Given the description of an element on the screen output the (x, y) to click on. 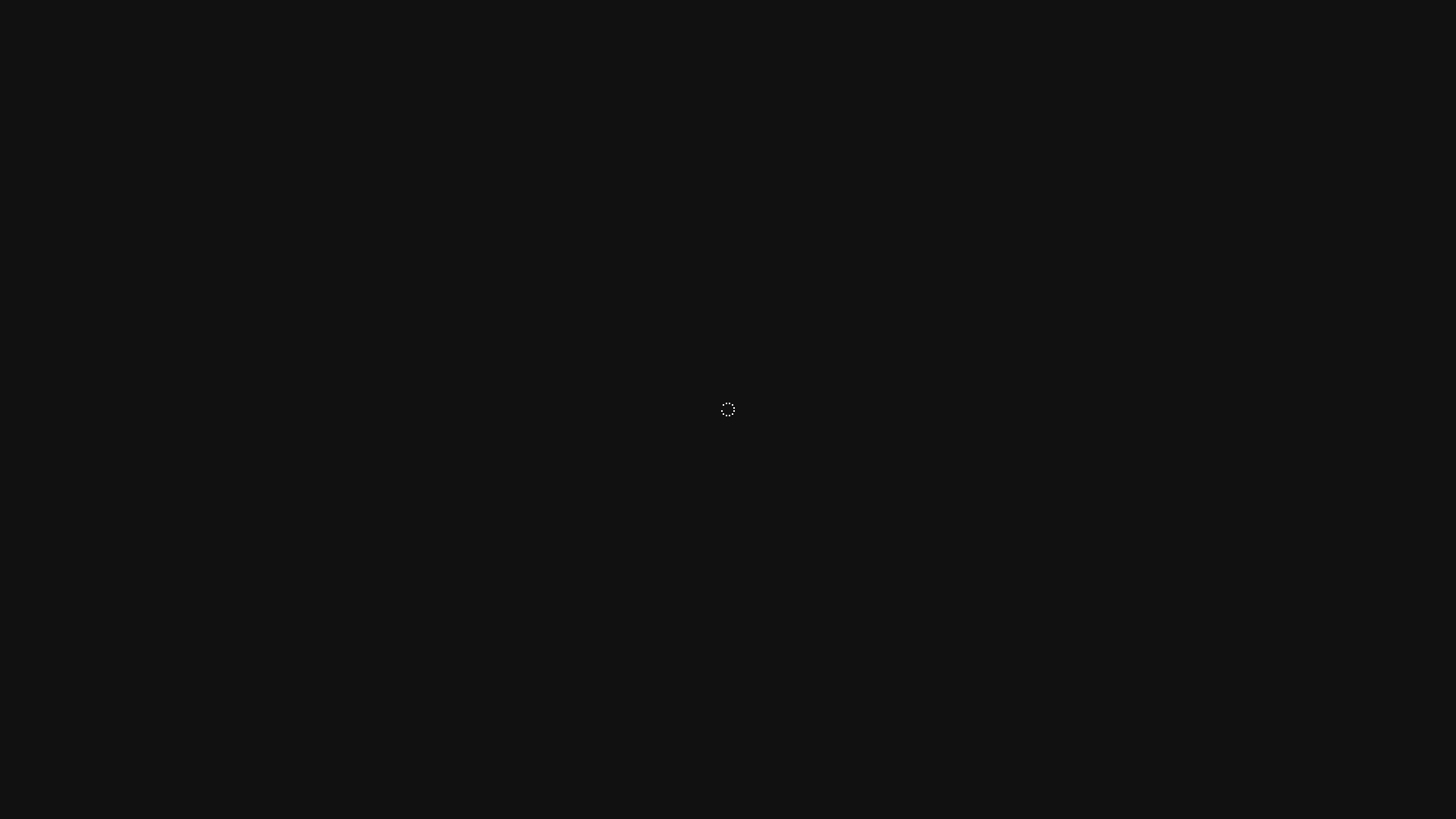
CONTACT Element type: text (39, 327)
PRESENTATION Element type: text (54, 215)
Y Element type: text (67, 739)
ACCUEIL Element type: text (36, 187)
LES TARIFS Element type: text (42, 271)
Accepter Element type: text (1045, 12)
LES BANCS Element type: text (42, 243)
NOS CONSEILS Element type: text (53, 299)
F Element type: text (13, 739)
K Element type: text (95, 739)
